Given the description of an element on the screen output the (x, y) to click on. 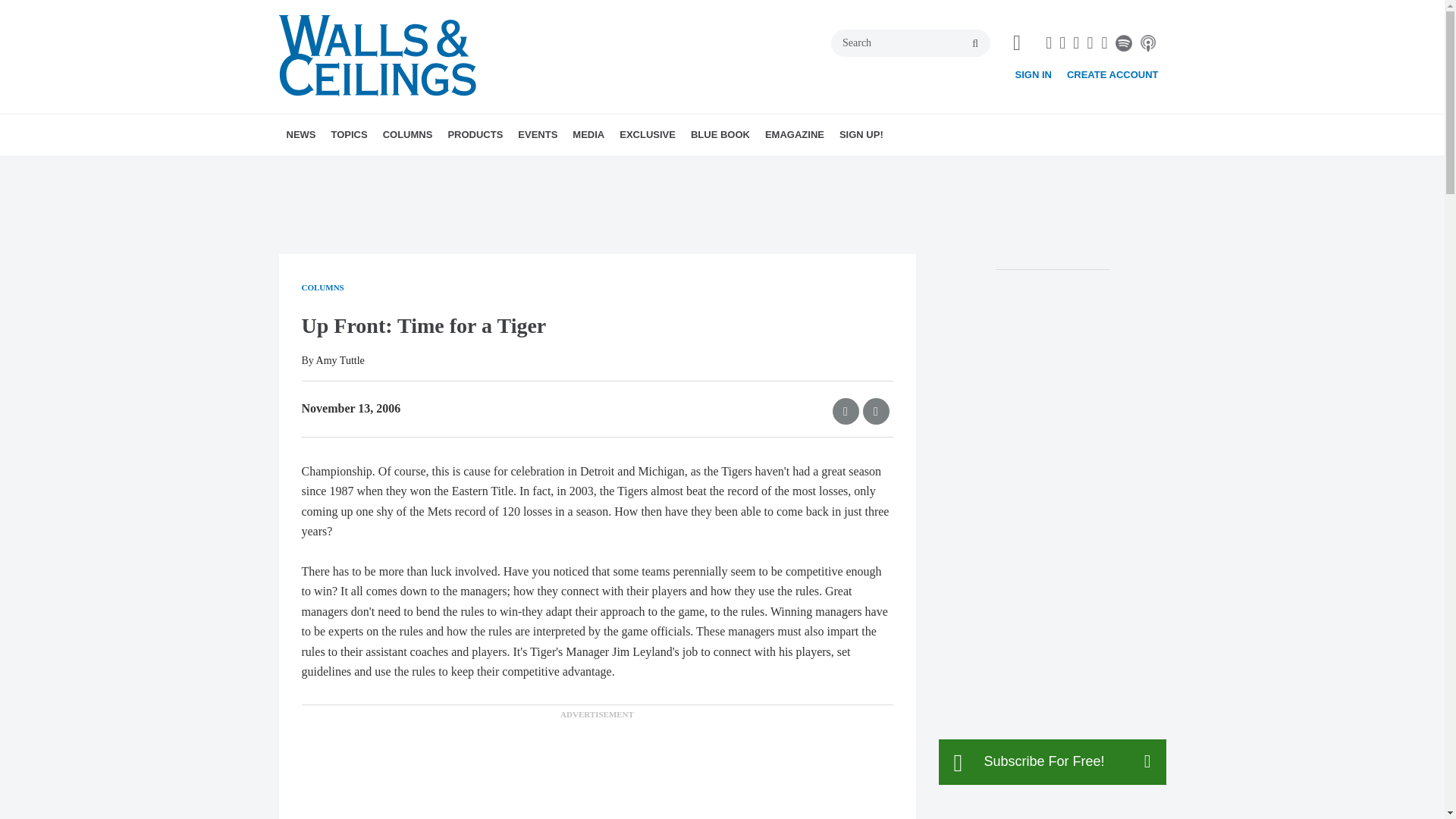
DRYWALL (417, 167)
Search (910, 42)
TOOLS AND SOFTWARE (457, 167)
NEWS (301, 134)
UP FRONT (493, 167)
COLUMNS (408, 134)
WOMEN IN CONSTRUCTION (464, 167)
INSULATION (454, 167)
FIREPROOFING (442, 167)
CREATE ACCOUNT (1112, 74)
